Given the description of an element on the screen output the (x, y) to click on. 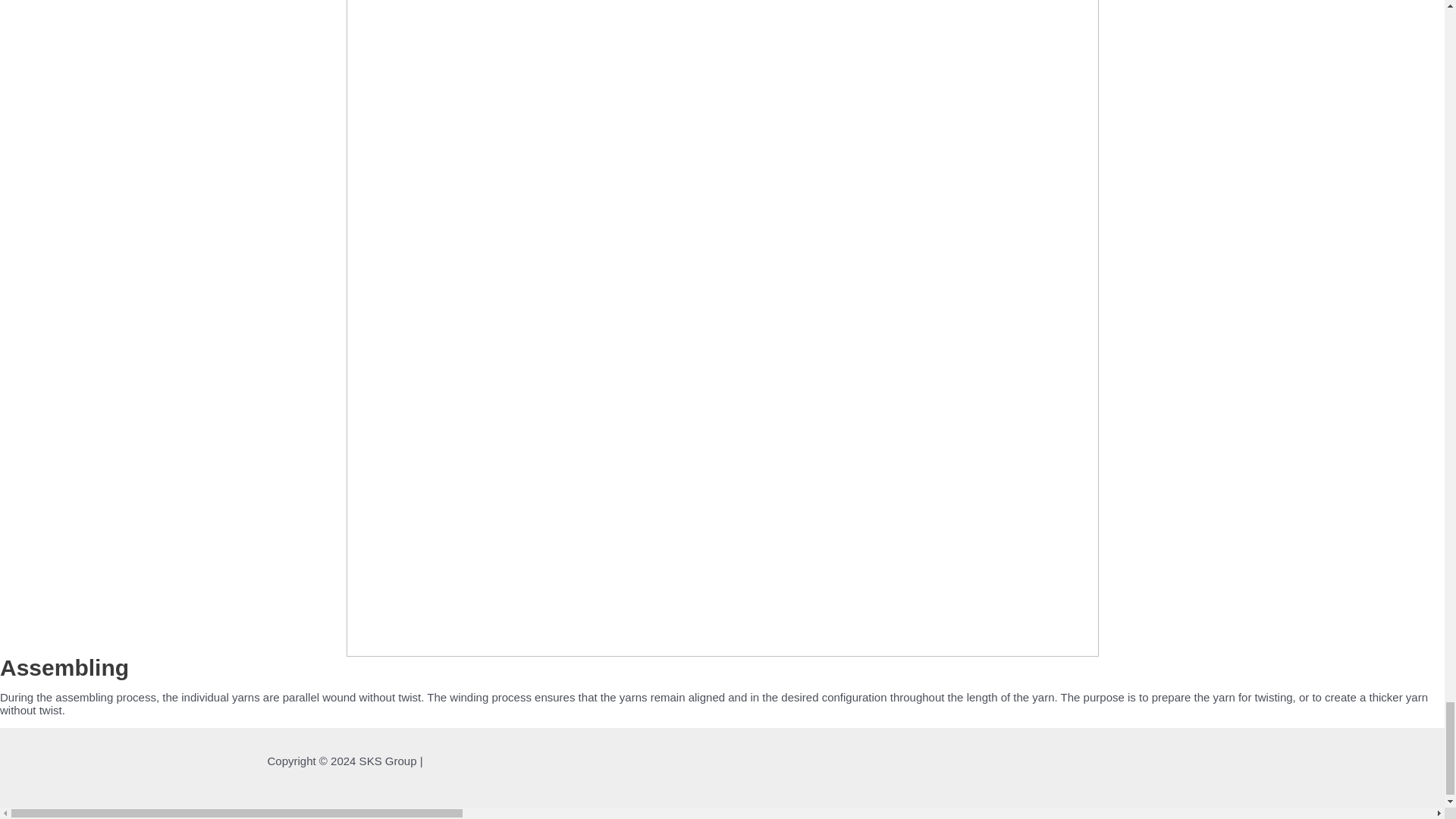
Page 38 (722, 703)
